Given the description of an element on the screen output the (x, y) to click on. 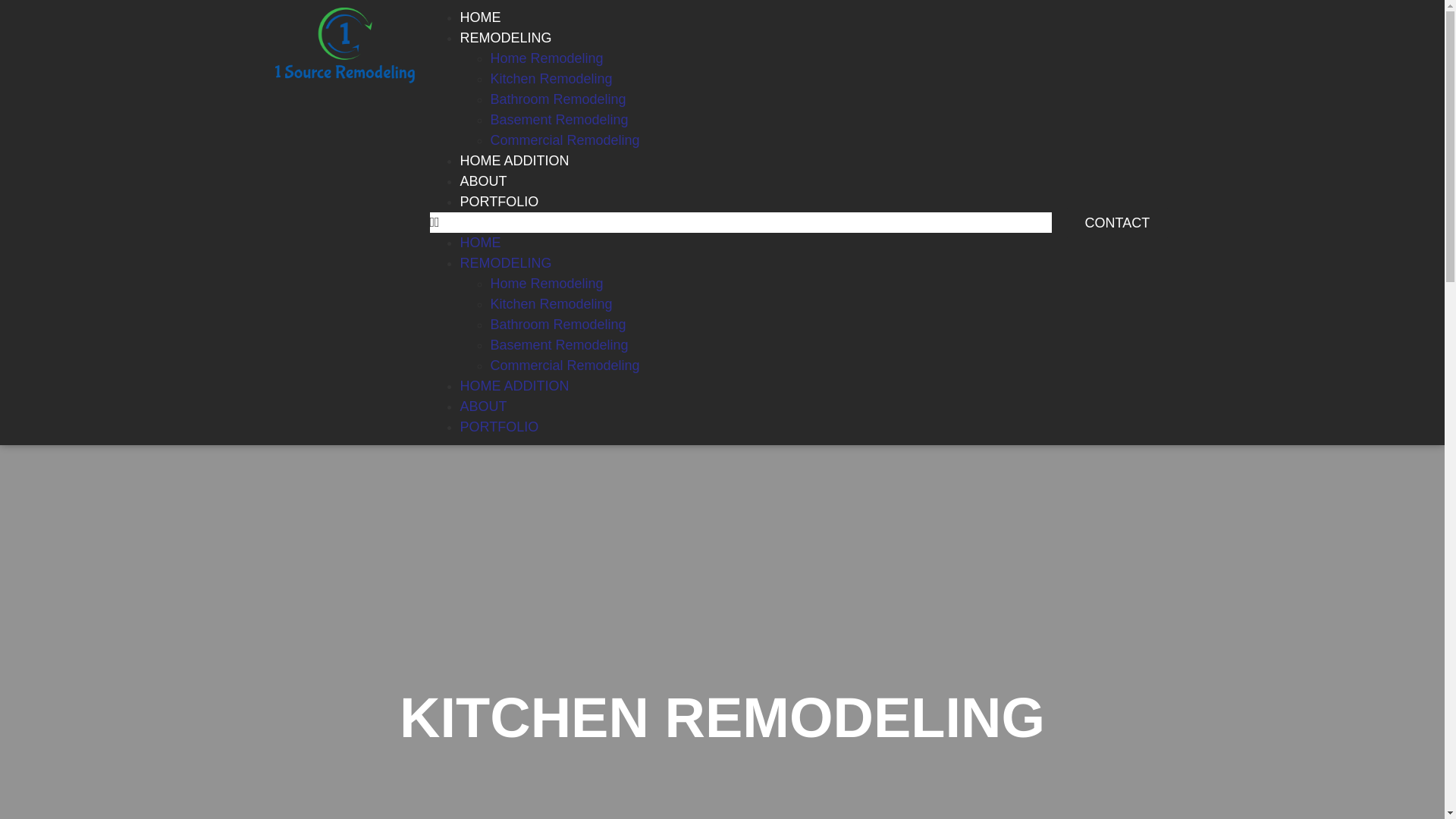
Commercial Remodeling (564, 140)
Home Remodeling (545, 283)
HOME (480, 17)
HOME ADDITION (514, 160)
Bathroom Remodeling (557, 99)
Kitchen Remodeling (550, 78)
Bathroom Remodeling (557, 324)
PORTFOLIO (499, 426)
ABOUT (483, 406)
ABOUT (483, 181)
PORTFOLIO (499, 201)
Commercial Remodeling (564, 365)
Kitchen Remodeling (550, 304)
Home Remodeling (545, 58)
CONTACT (1116, 222)
